Given the description of an element on the screen output the (x, y) to click on. 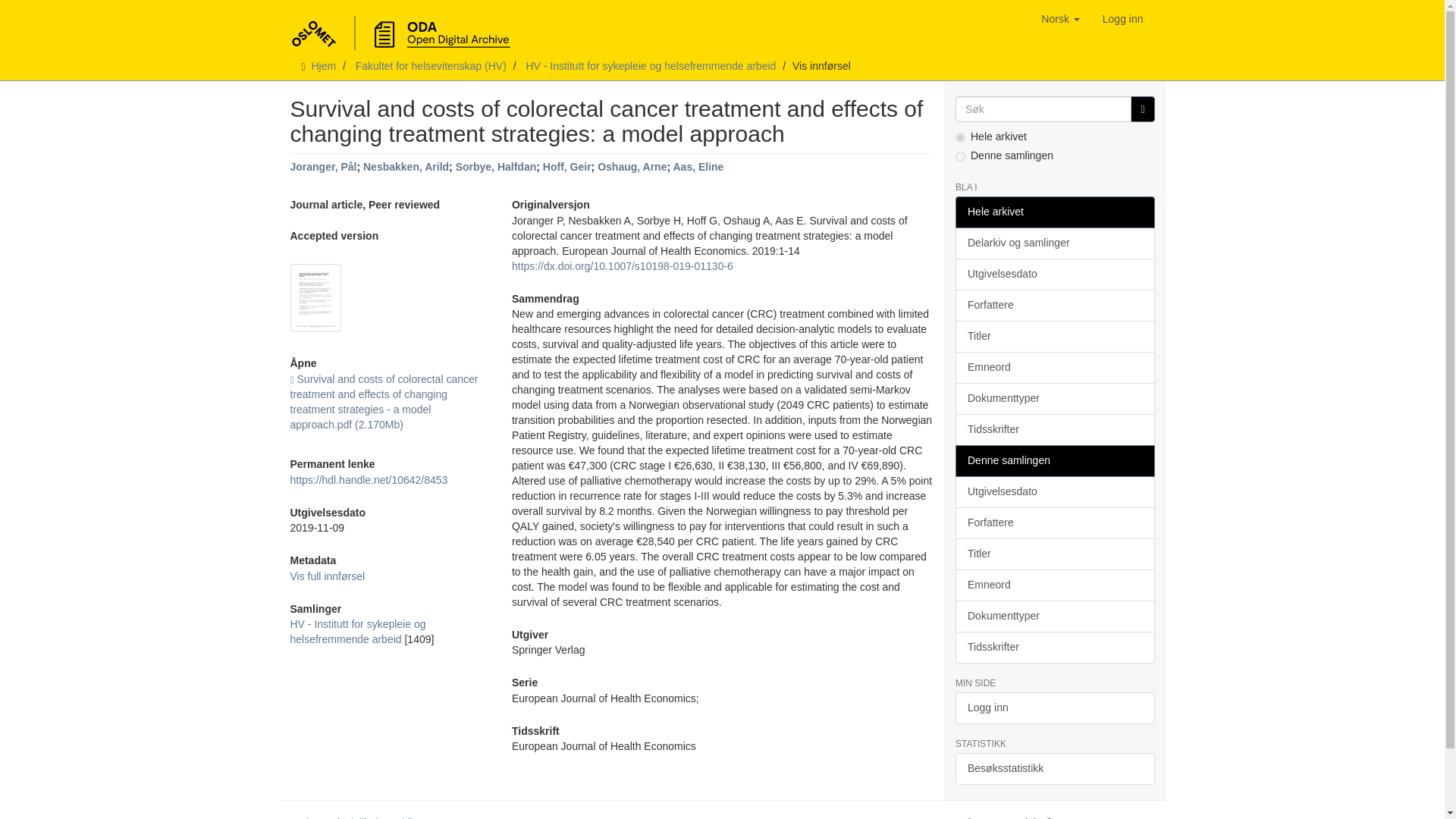
Hoff, Geir (567, 166)
Hele arkivet (1054, 212)
Nesbakken, Arild (405, 166)
Oshaug, Arne (631, 166)
Hjem (323, 65)
Norsk  (1059, 18)
Sorbye, Halfdan (496, 166)
Aas, Eline (697, 166)
HV - Institutt for sykepleie og helsefremmende arbeid (650, 65)
Delarkiv og samlinger (1054, 243)
